Given the description of an element on the screen output the (x, y) to click on. 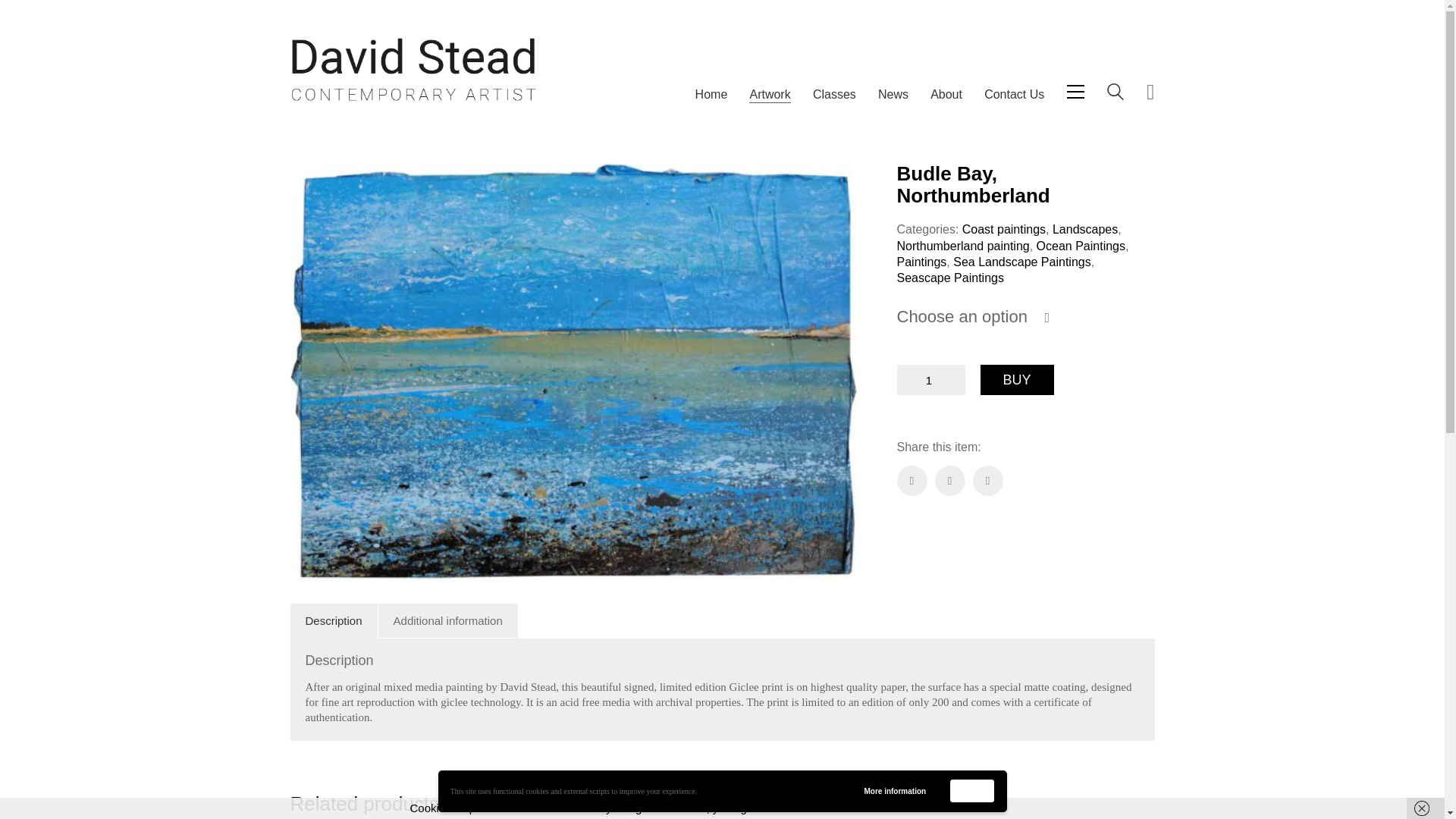
Home (711, 94)
Contact Us (1013, 94)
Paintings (921, 261)
News (892, 94)
Additional information (448, 620)
Sea Landscape Paintings (1021, 261)
1 (929, 379)
More information (894, 790)
Landscapes (1085, 229)
Description (333, 620)
Ocean Paintings (1080, 245)
Accept (972, 790)
Northumberland painting (962, 245)
Seascape Paintings (949, 277)
